Given the description of an element on the screen output the (x, y) to click on. 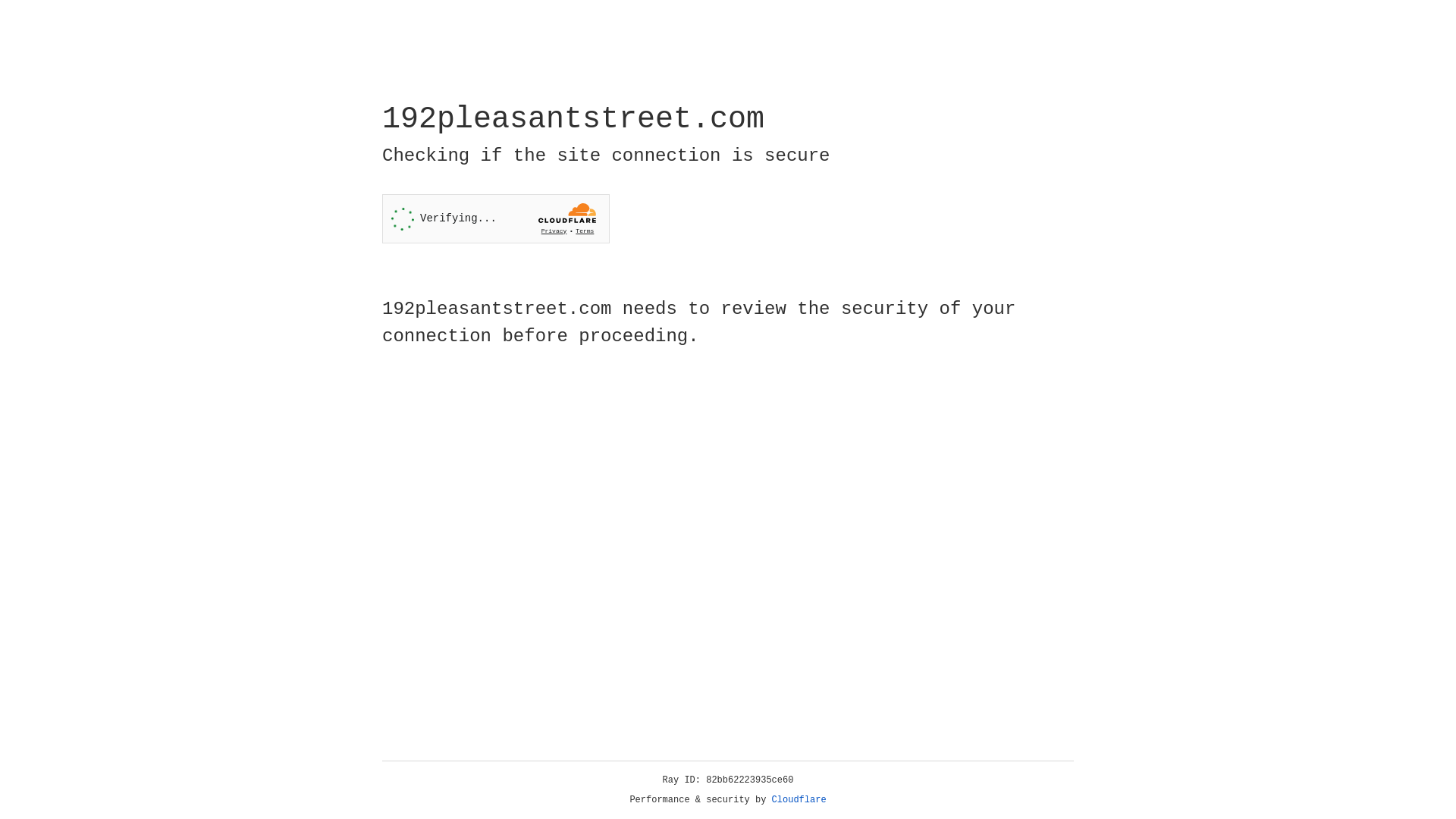
Widget containing a Cloudflare security challenge Element type: hover (495, 218)
Cloudflare Element type: text (798, 799)
